Given the description of an element on the screen output the (x, y) to click on. 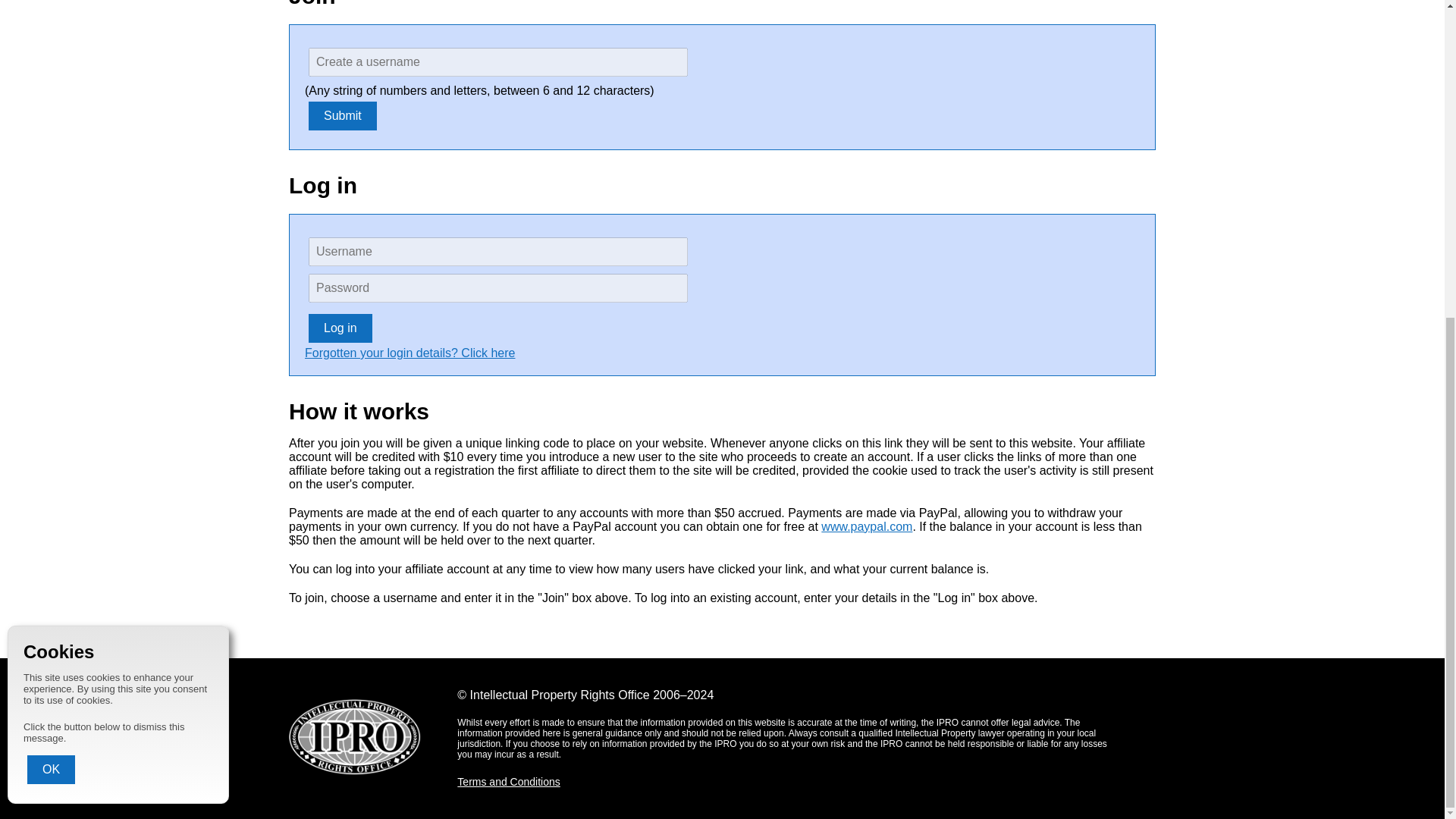
OK (51, 348)
www.paypal.com (866, 526)
Terms and Conditions (508, 781)
Submit (342, 115)
Intellectual Property Rights Office (354, 736)
Submit (342, 115)
Log in (340, 328)
Forgotten your login details? Click here (409, 352)
Log in (340, 328)
